Given the description of an element on the screen output the (x, y) to click on. 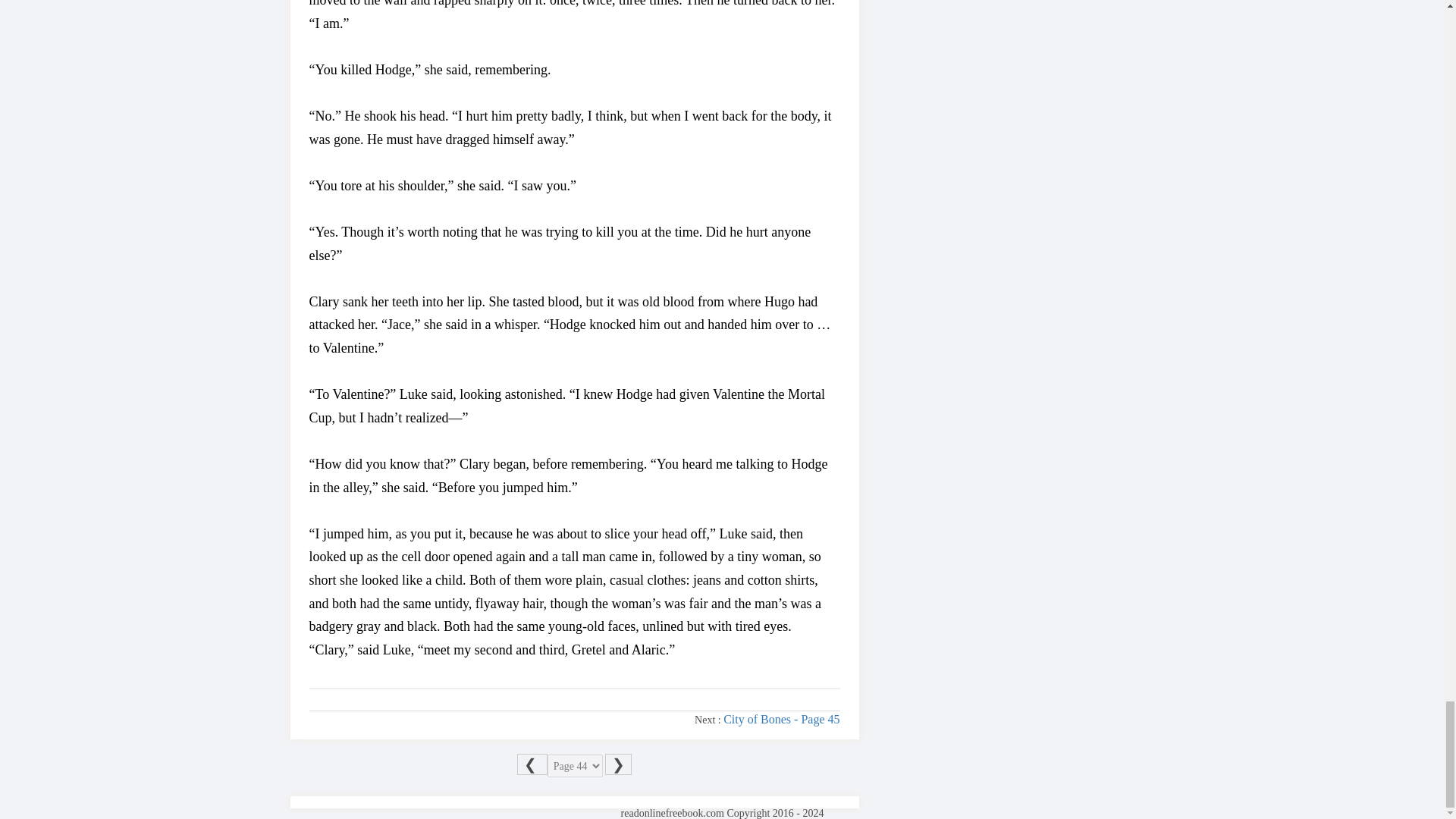
City of Bones - Page 45 (781, 719)
